Given the description of an element on the screen output the (x, y) to click on. 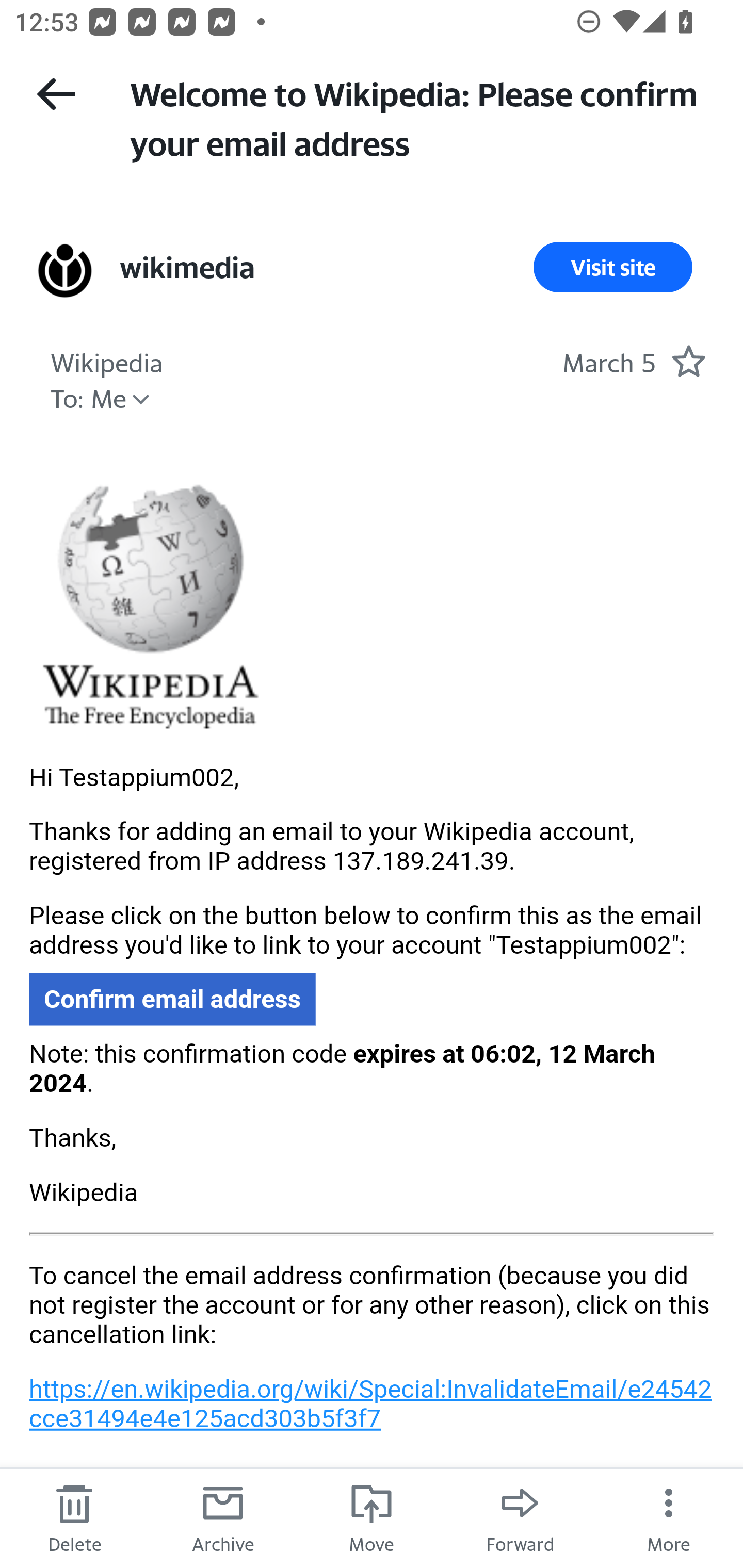
Back (55, 93)
View all messages from sender (64, 270)
Visit site Visit Site Link (612, 267)
wikimedia Sender wikimedia (186, 266)
Wikipedia Sender Wikipedia (106, 360)
Mark as starred. (688, 361)
Confirm email address (172, 999)
Delete (74, 1517)
Archive (222, 1517)
Move (371, 1517)
Forward (519, 1517)
More (668, 1517)
